Given the description of an element on the screen output the (x, y) to click on. 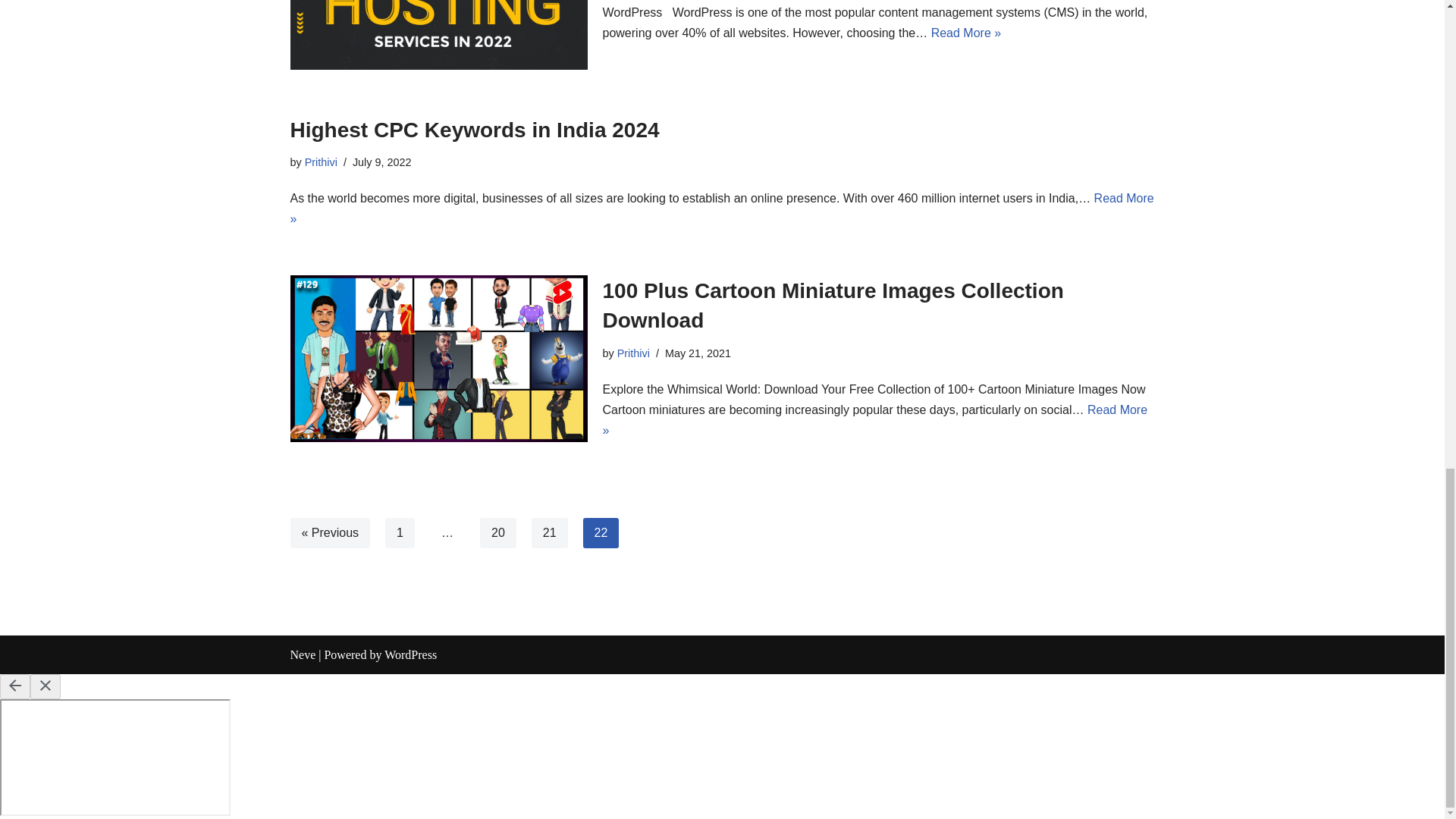
Posts by Prithivi (320, 162)
100 Plus Cartoon Miniature Images Collection Download (437, 359)
Posts by Prithivi (633, 353)
